Given the description of an element on the screen output the (x, y) to click on. 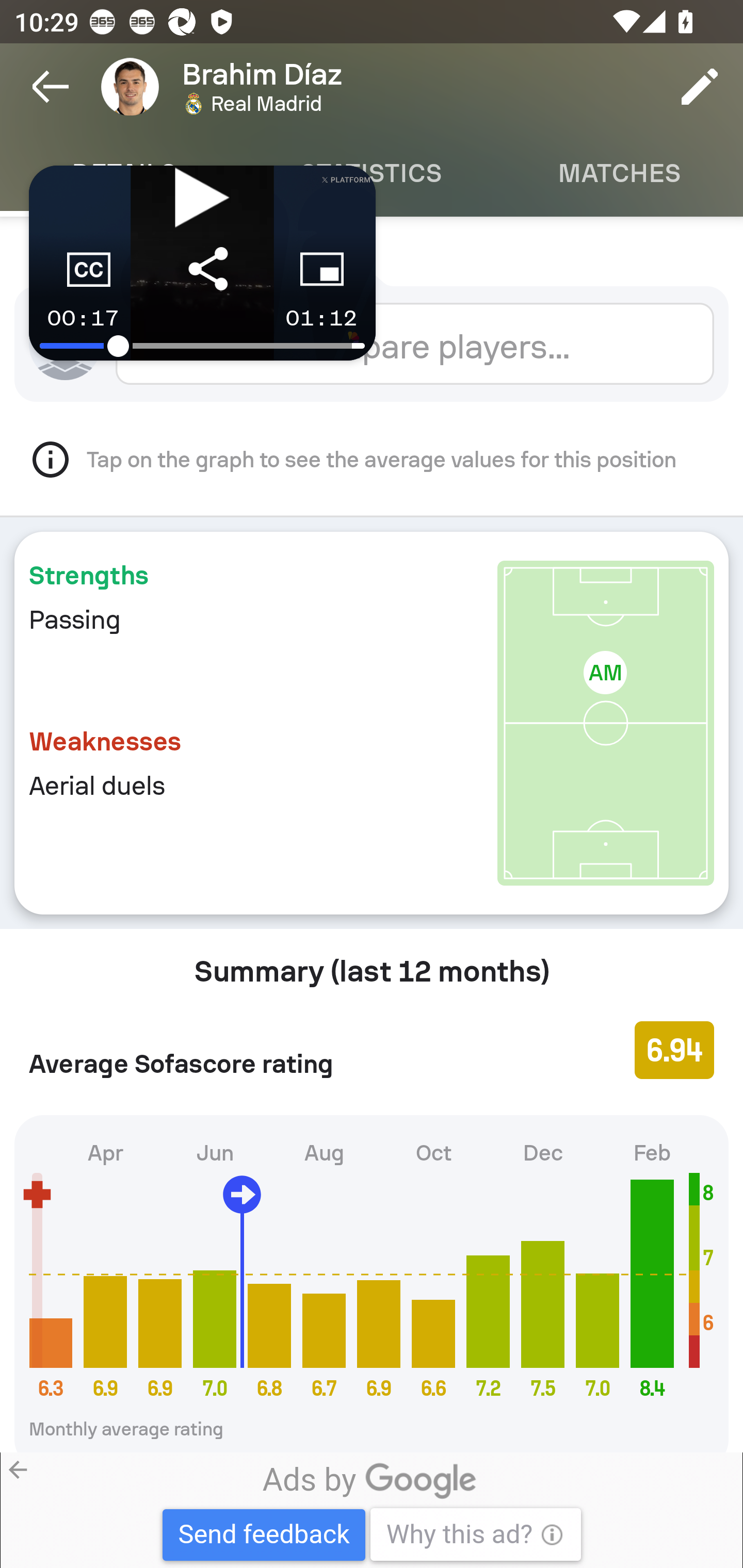
Navigate up (50, 86)
Edit (699, 86)
Matches MATCHES (619, 173)
